Given the description of an element on the screen output the (x, y) to click on. 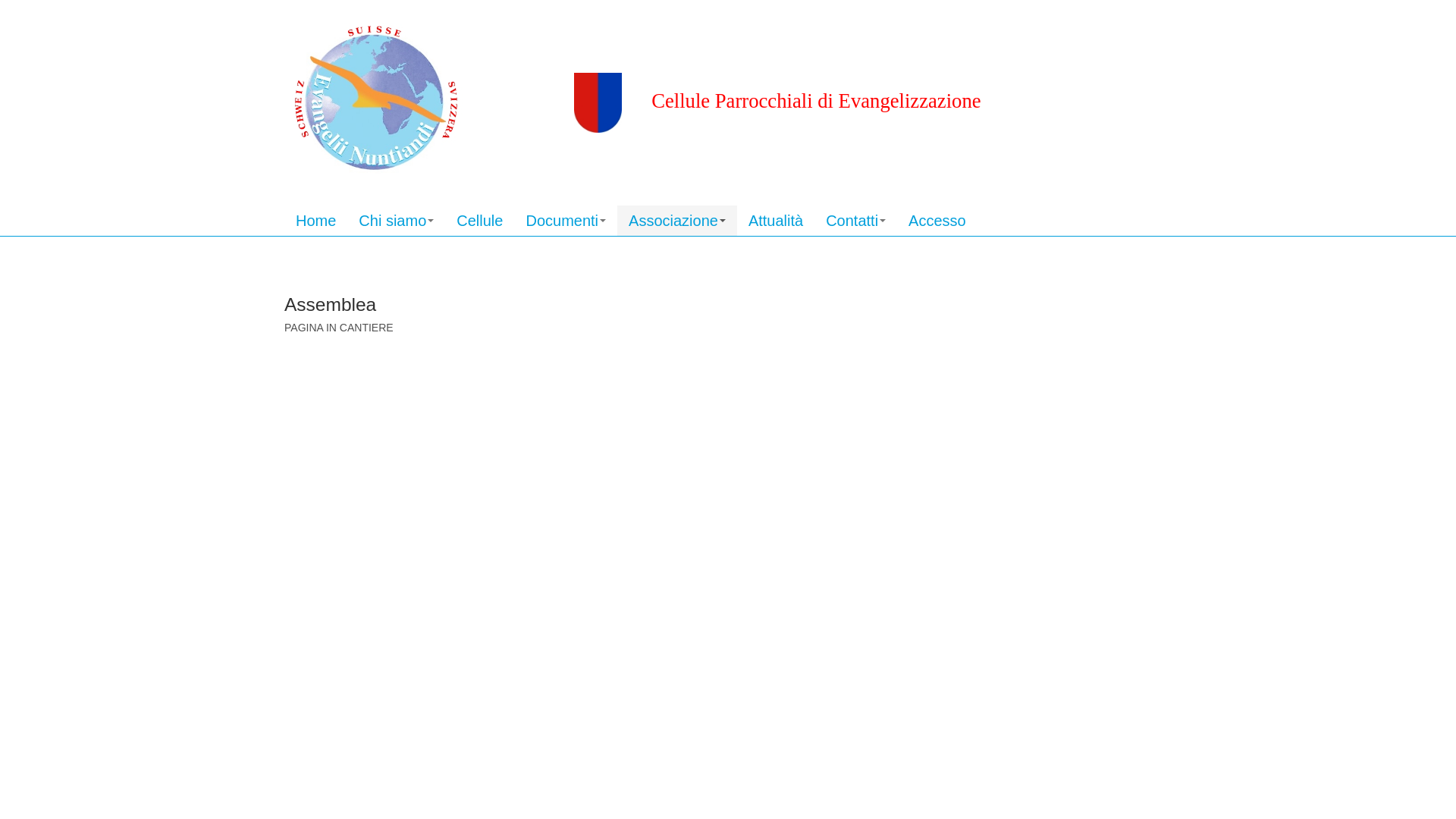
Associazione Element type: text (677, 220)
Documenti Element type: text (565, 220)
Accesso Element type: text (937, 220)
Cellule Element type: text (479, 220)
Contatti Element type: text (855, 220)
Chi siamo Element type: text (396, 220)
Home Element type: text (315, 220)
